Given the description of an element on the screen output the (x, y) to click on. 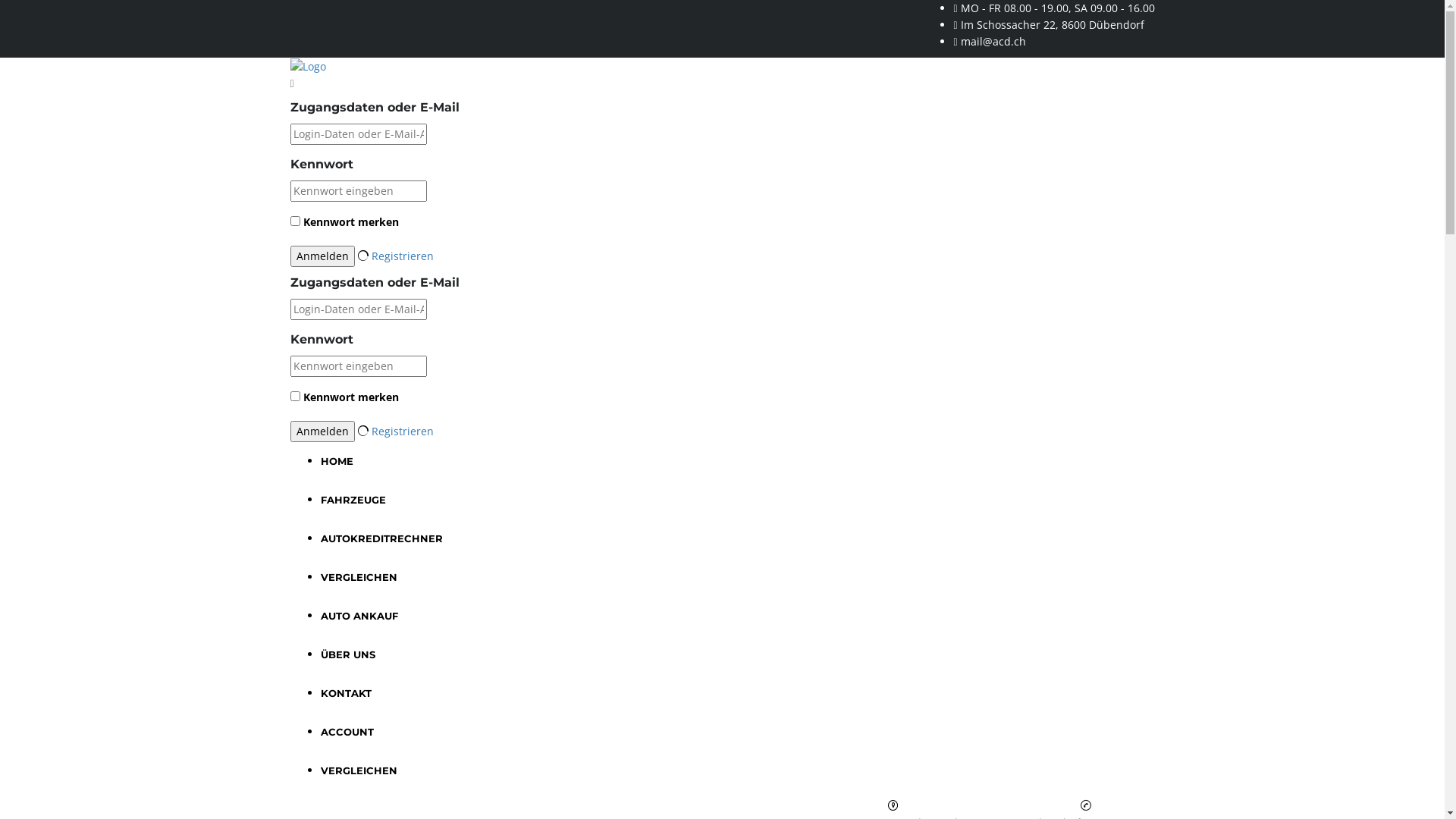
Anmelden Element type: text (321, 255)
FAHRZEUGE Element type: text (352, 499)
VERGLEICHEN Element type: text (358, 577)
mail@acd.ch Element type: text (992, 41)
VERGLEICHEN Element type: text (358, 770)
Registrieren Element type: text (402, 430)
ACCOUNT Element type: text (346, 731)
KONTAKT Element type: text (345, 693)
AUTOKREDITRECHNER Element type: text (381, 538)
Registrieren Element type: text (402, 255)
Startseite Element type: hover (307, 66)
HOME Element type: text (336, 461)
AUTO ANKAUF Element type: text (358, 615)
Anmelden Element type: text (321, 431)
